Given the description of an element on the screen output the (x, y) to click on. 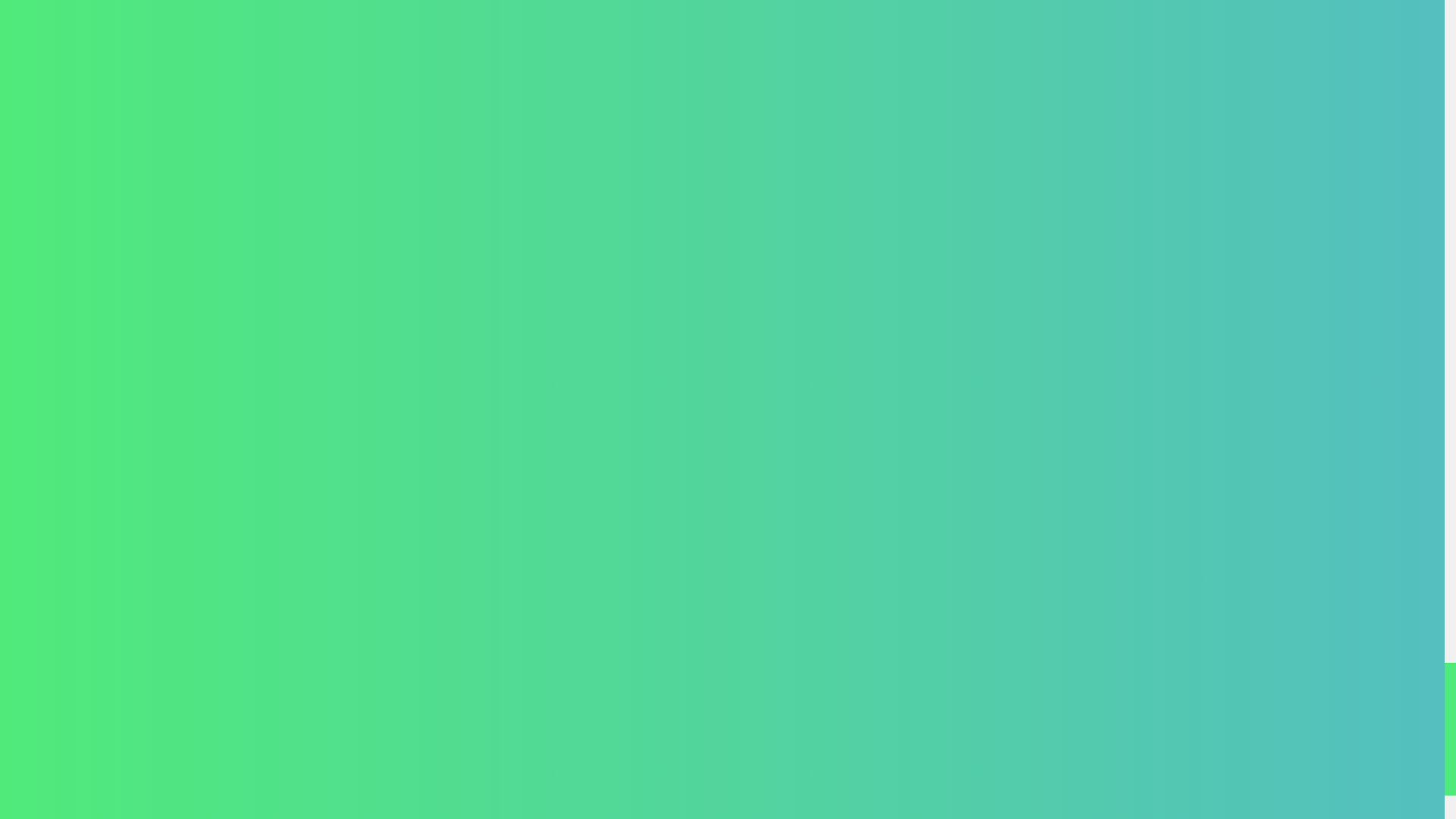
Click to visit (1259, 742)
Click to visit (1194, 742)
Click to visit (1389, 742)
Click to visit (1324, 742)
